Given the description of an element on the screen output the (x, y) to click on. 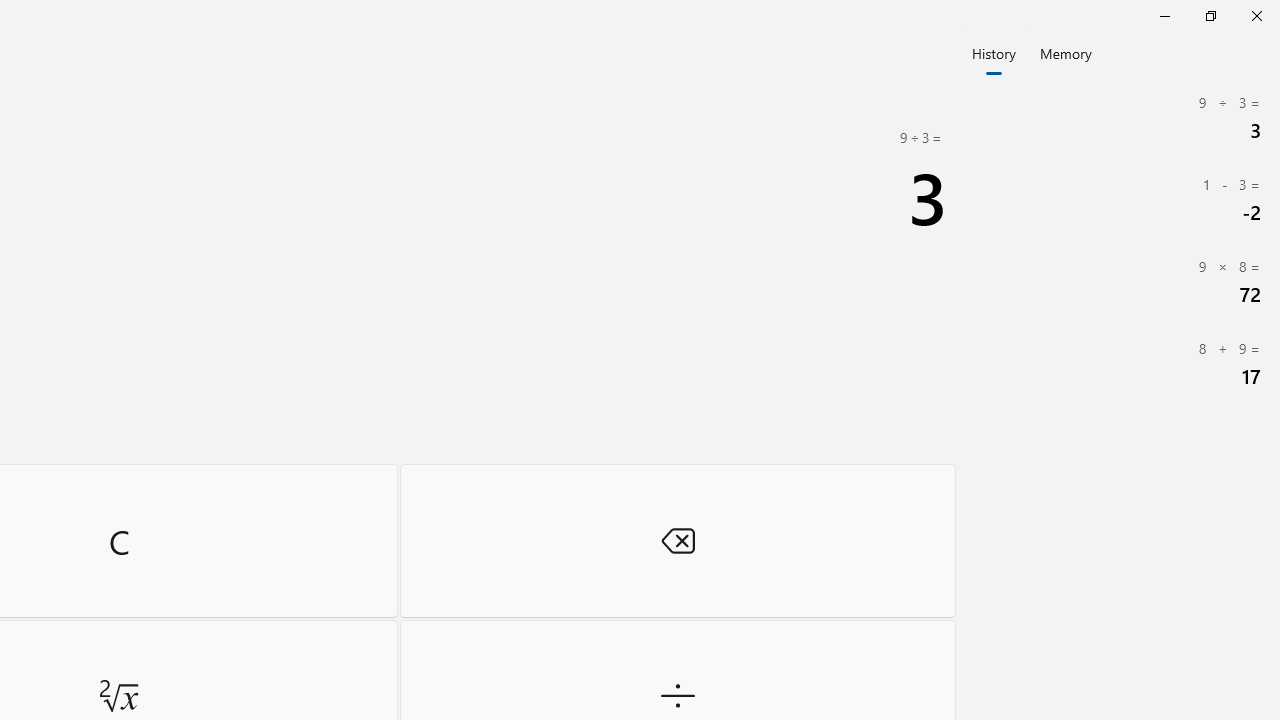
8 + 9= 17 (1119, 363)
Minimize Calculator (1164, 15)
Restore Calculator (1210, 15)
History (993, 52)
Backspace (677, 540)
1 Minus ( 3= Minus (2 (1119, 200)
Close Calculator (1256, 15)
